Given the description of an element on the screen output the (x, y) to click on. 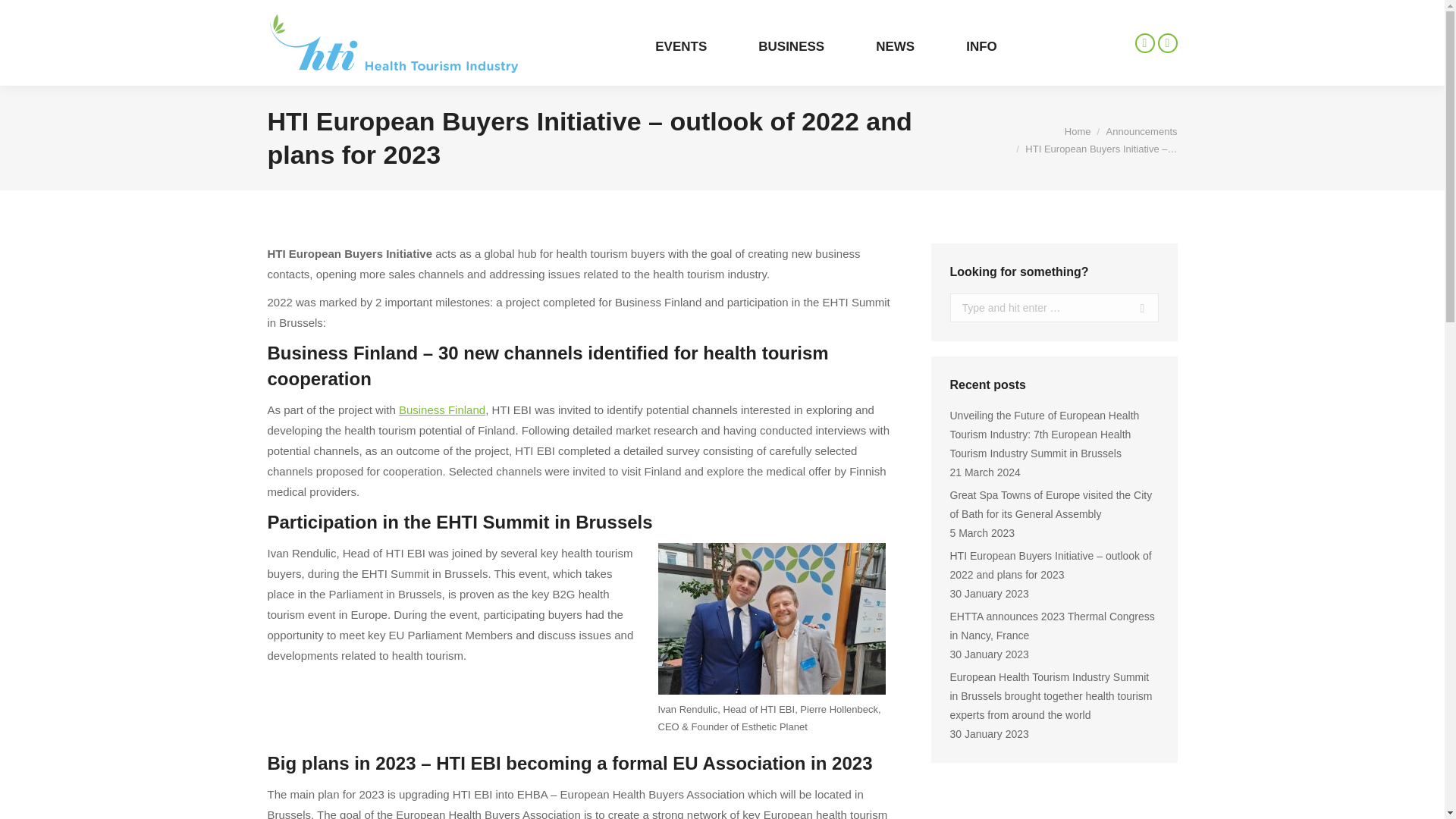
BUSINESS (799, 44)
Facebook page opens in new window (1144, 43)
INFO (989, 44)
Linkedin page opens in new window (1166, 43)
NEWS (902, 44)
Facebook page opens in new window (1144, 43)
Linkedin page opens in new window (1166, 43)
EVENTS (688, 44)
Go! (1134, 307)
Go! (1134, 307)
